Given the description of an element on the screen output the (x, y) to click on. 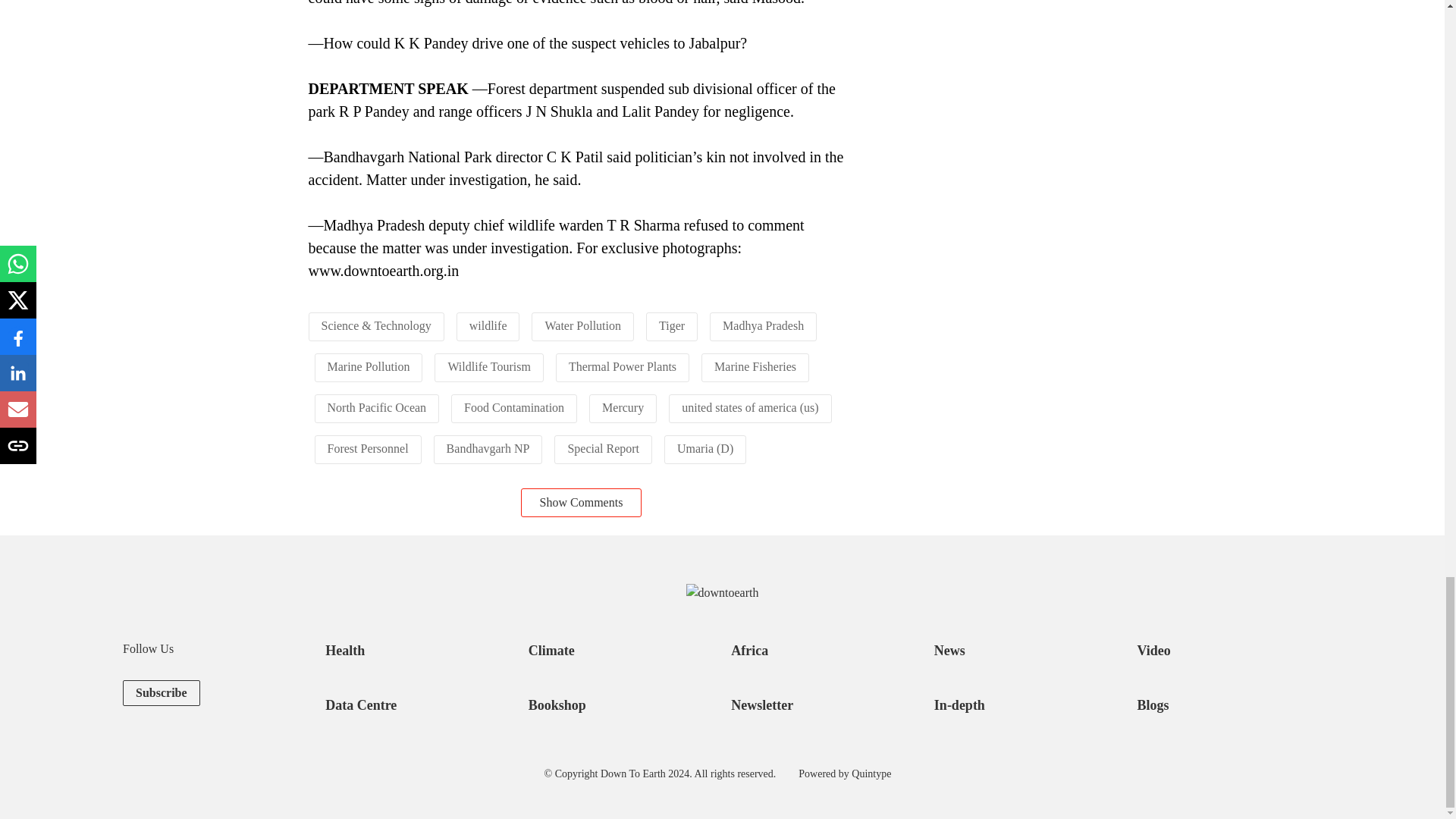
Marine Pollution (368, 366)
Madhya Pradesh (762, 325)
Water Pollution (582, 325)
Tiger (671, 325)
wildlife (487, 325)
